Given the description of an element on the screen output the (x, y) to click on. 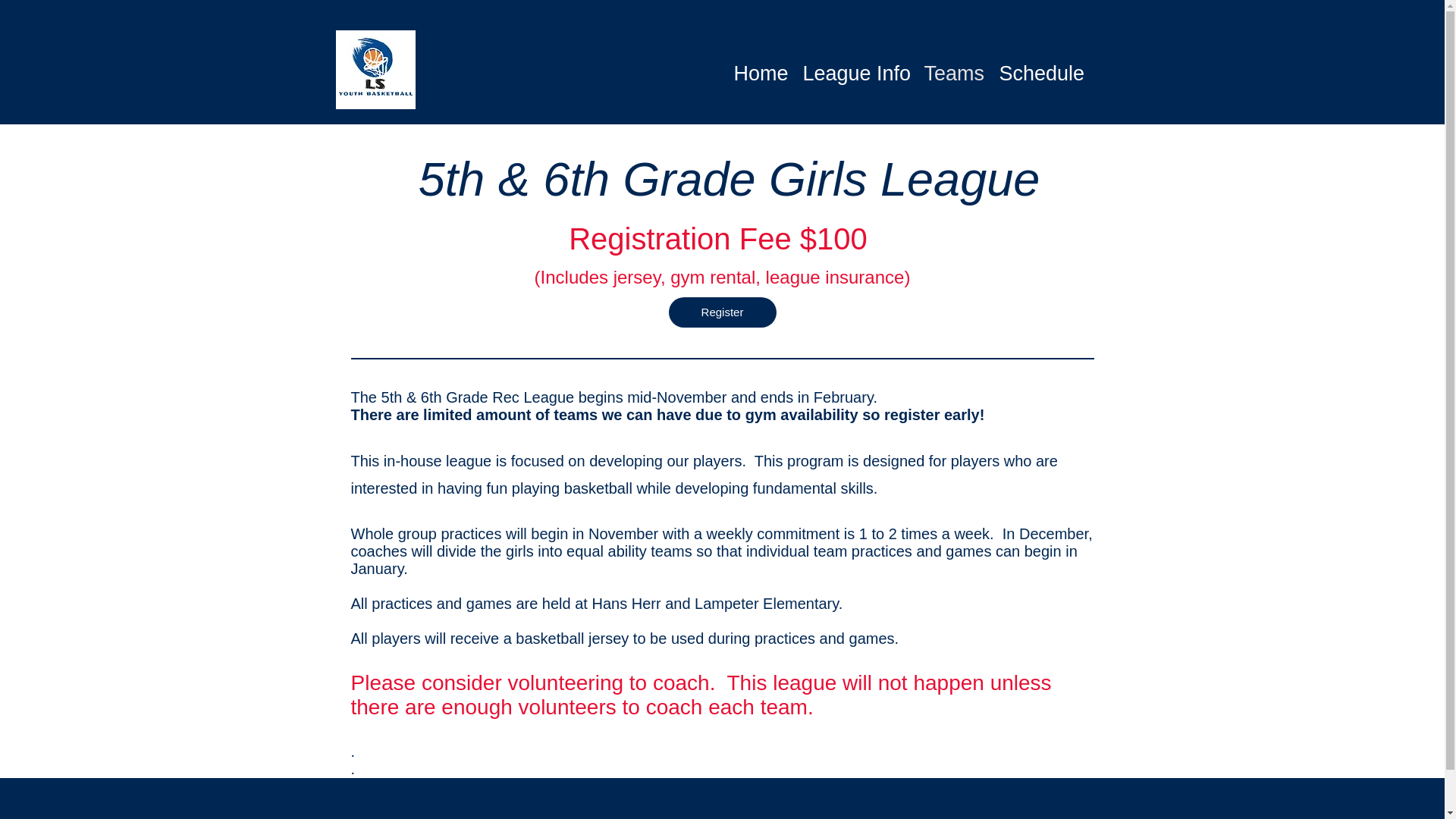
Schedule (1040, 72)
League Info (854, 72)
Teams (953, 72)
Home (760, 72)
Register (722, 312)
